Given the description of an element on the screen output the (x, y) to click on. 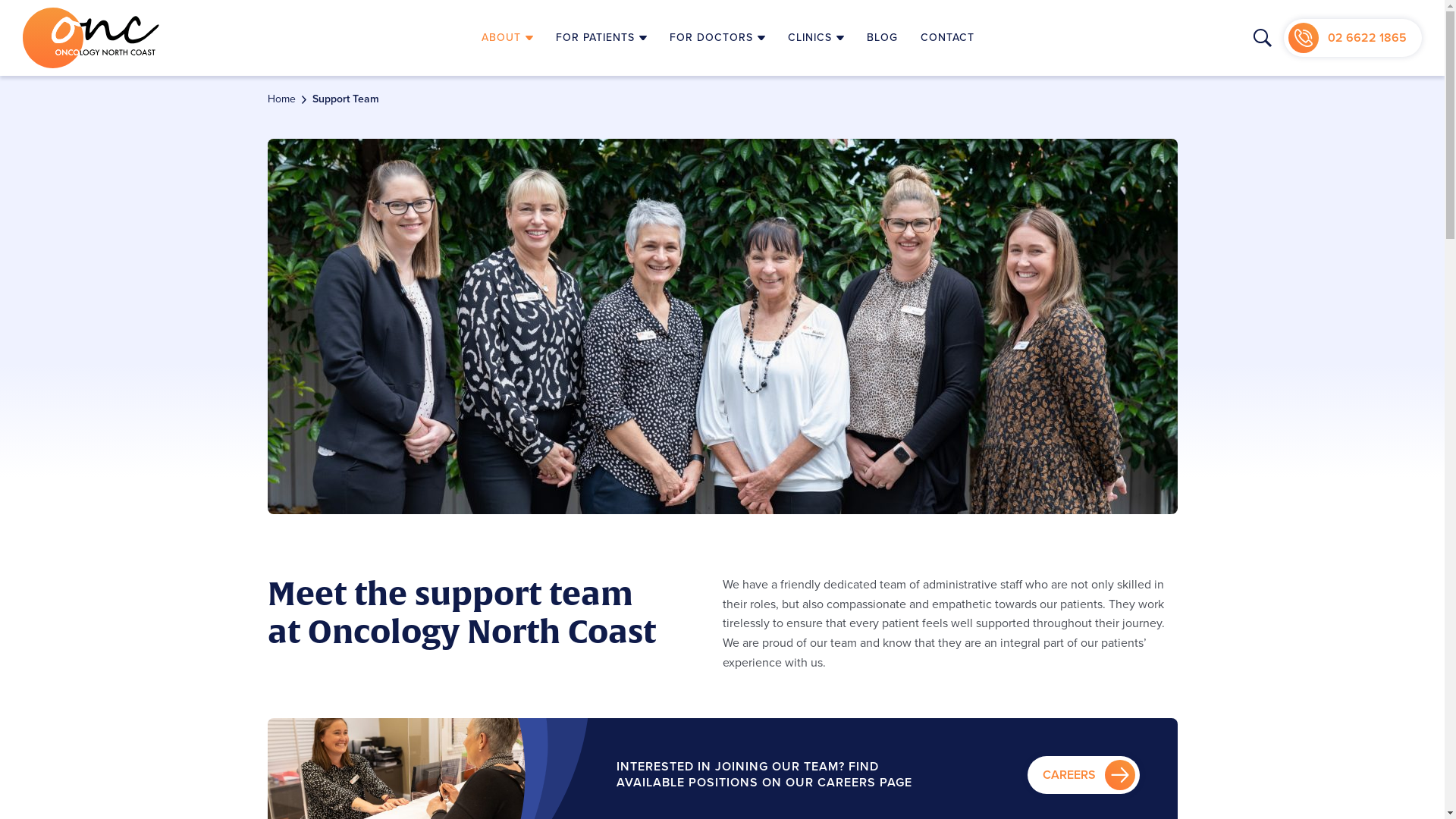
FOR DOCTORS Element type: text (717, 37)
FOR PATIENTS Element type: text (600, 37)
ONC Element type: hover (90, 37)
CONTACT Element type: text (947, 37)
BLOG Element type: text (881, 37)
Search Element type: hover (1262, 37)
Home Element type: text (280, 98)
ABOUT Element type: text (507, 37)
CAREERS Element type: text (1082, 774)
02 6622 1865 Element type: text (1352, 37)
CLINICS Element type: text (815, 37)
